Given the description of an element on the screen output the (x, y) to click on. 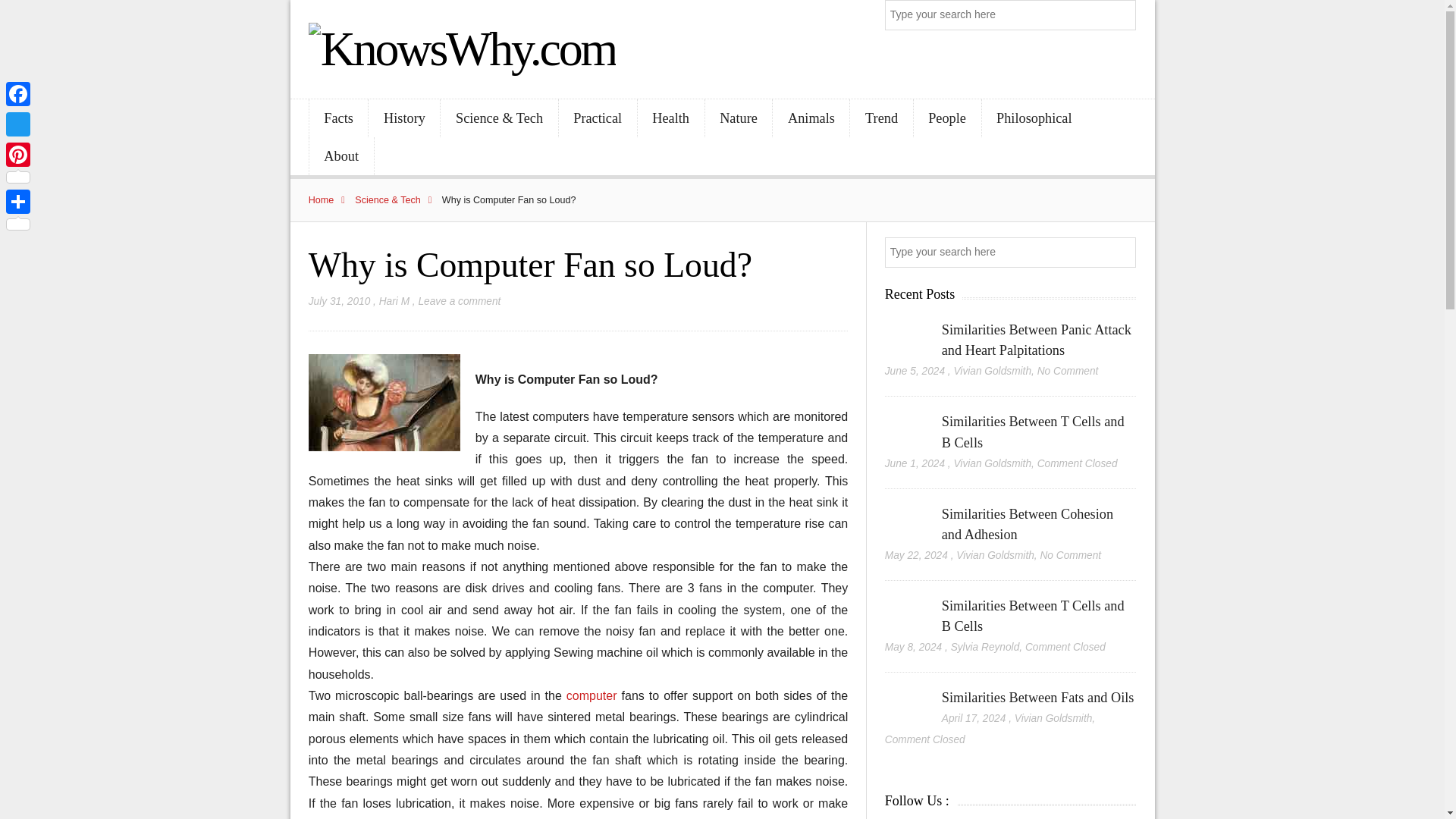
Philosophical (1033, 118)
People (947, 118)
Posts by Hari M (393, 301)
About (341, 156)
Search (1123, 15)
computer (593, 695)
Difference Between (384, 402)
Animals (810, 118)
Health (670, 118)
WHY IS COMPUTER LITERACY IMPORTANT (593, 695)
